Given the description of an element on the screen output the (x, y) to click on. 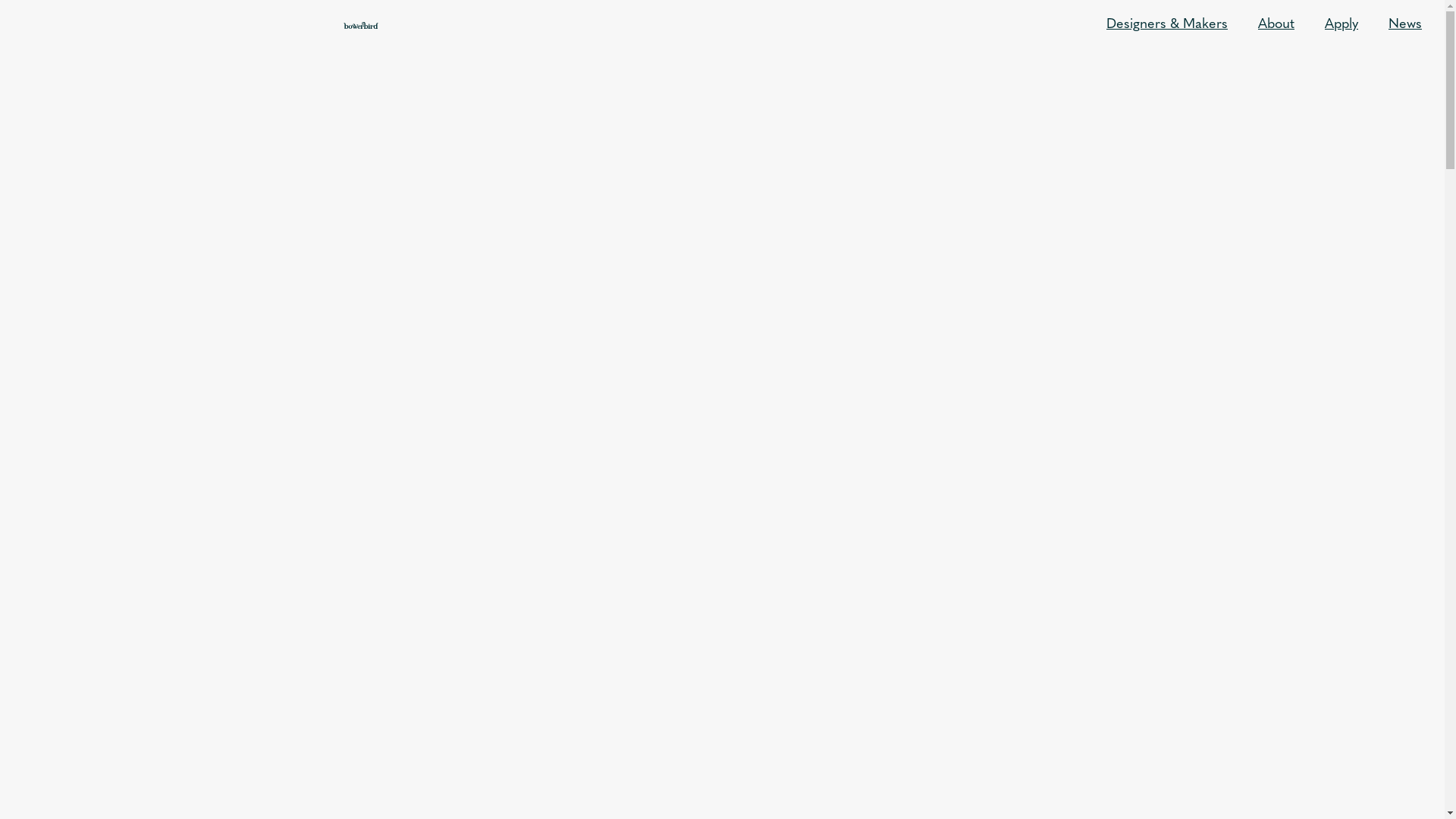
About Element type: text (1275, 24)
Designers & Makers Element type: text (1166, 24)
News Element type: text (1405, 24)
Apply Element type: text (1341, 24)
